Given the description of an element on the screen output the (x, y) to click on. 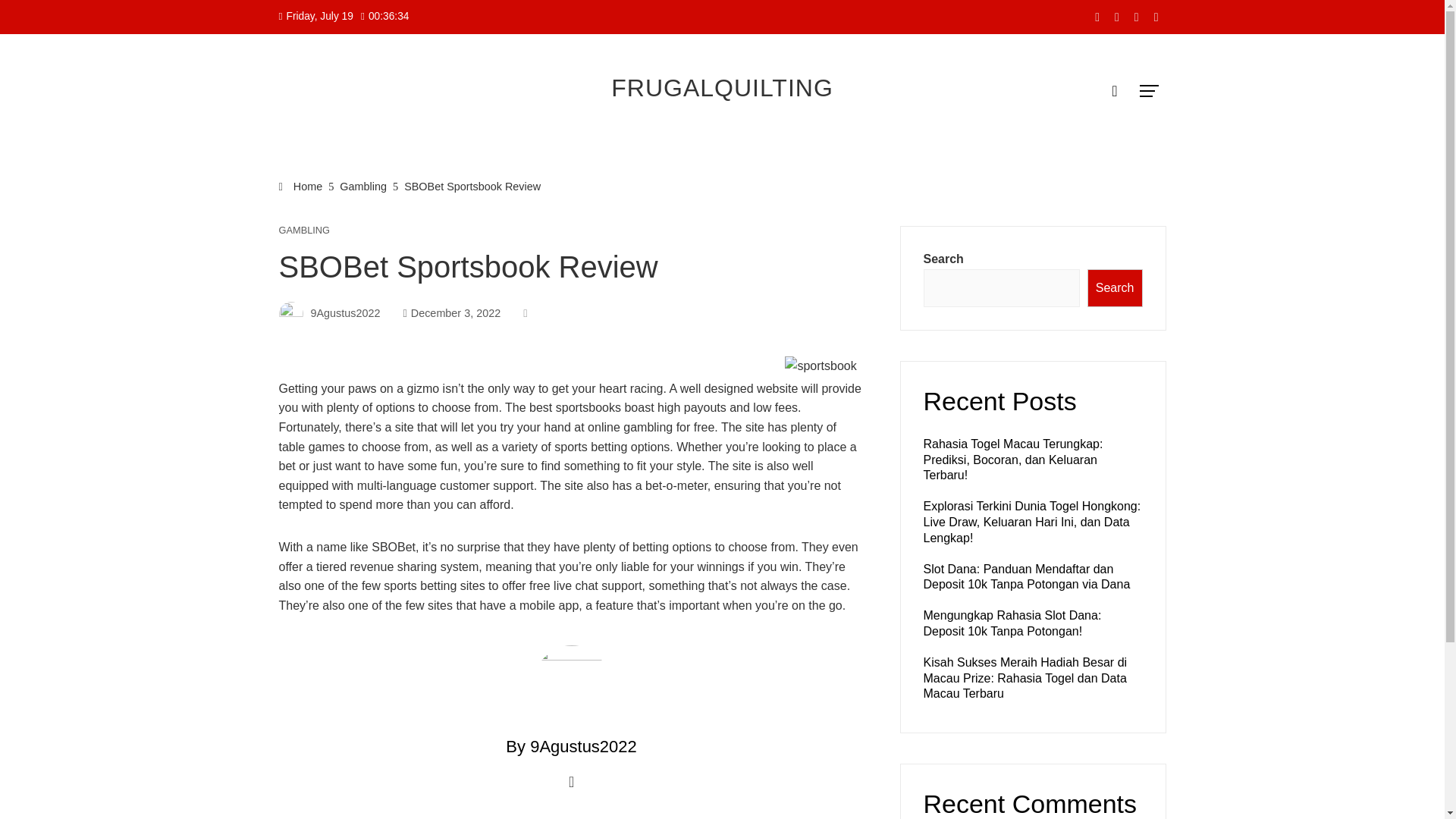
GAMBLING (304, 230)
Search (1114, 288)
Mengungkap Rahasia Slot Dana: Deposit 10k Tanpa Potongan! (1012, 623)
FRUGALQUILTING (721, 87)
Home (301, 186)
Gambling (363, 186)
